Given the description of an element on the screen output the (x, y) to click on. 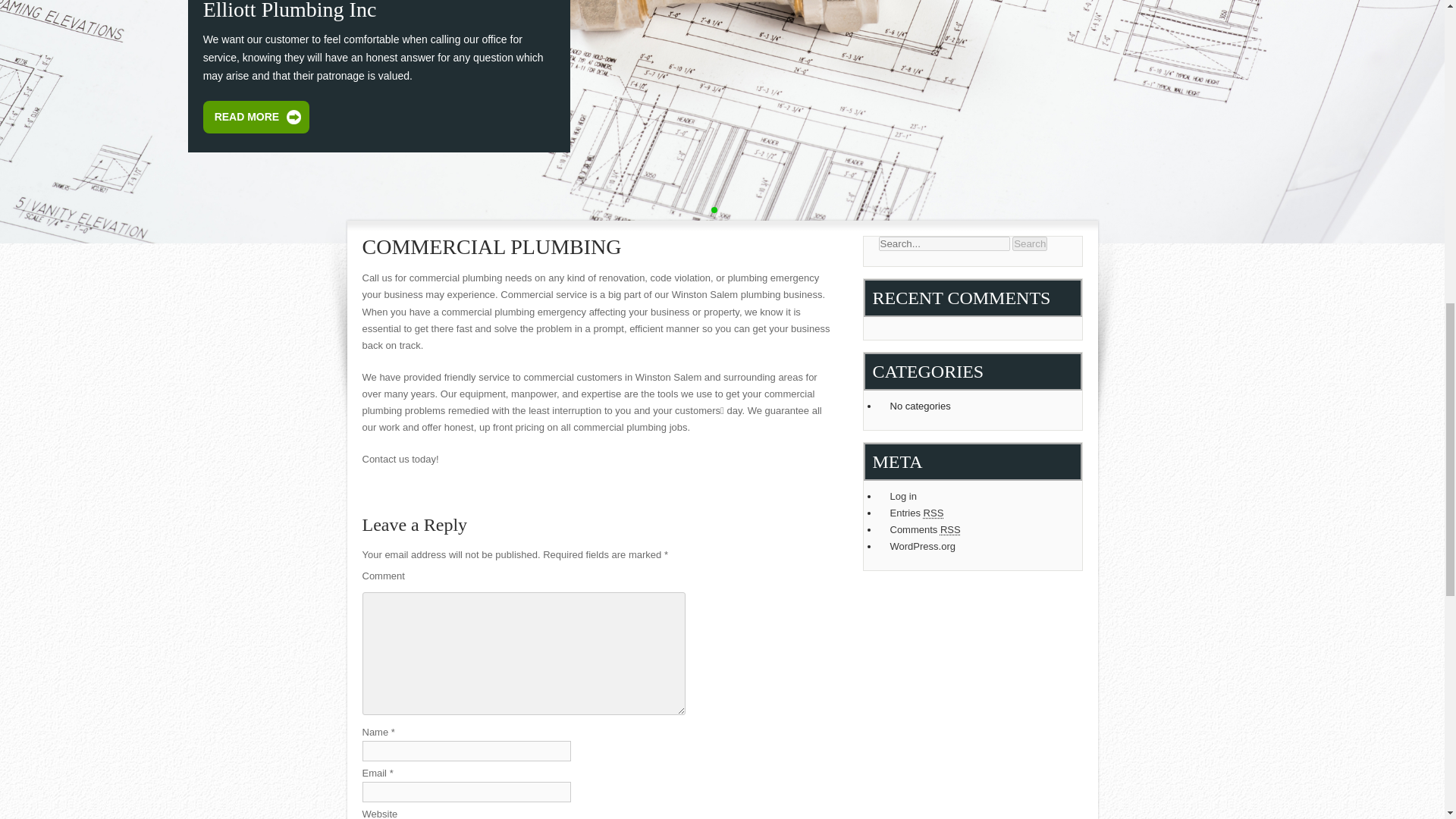
Really Simple Syndication (933, 512)
Search (1028, 243)
Entries RSS (978, 513)
1 (714, 209)
Search (1028, 243)
Really Simple Syndication (950, 529)
WordPress.org (978, 546)
READ MORE (256, 117)
Comments RSS (978, 529)
